Given the description of an element on the screen output the (x, y) to click on. 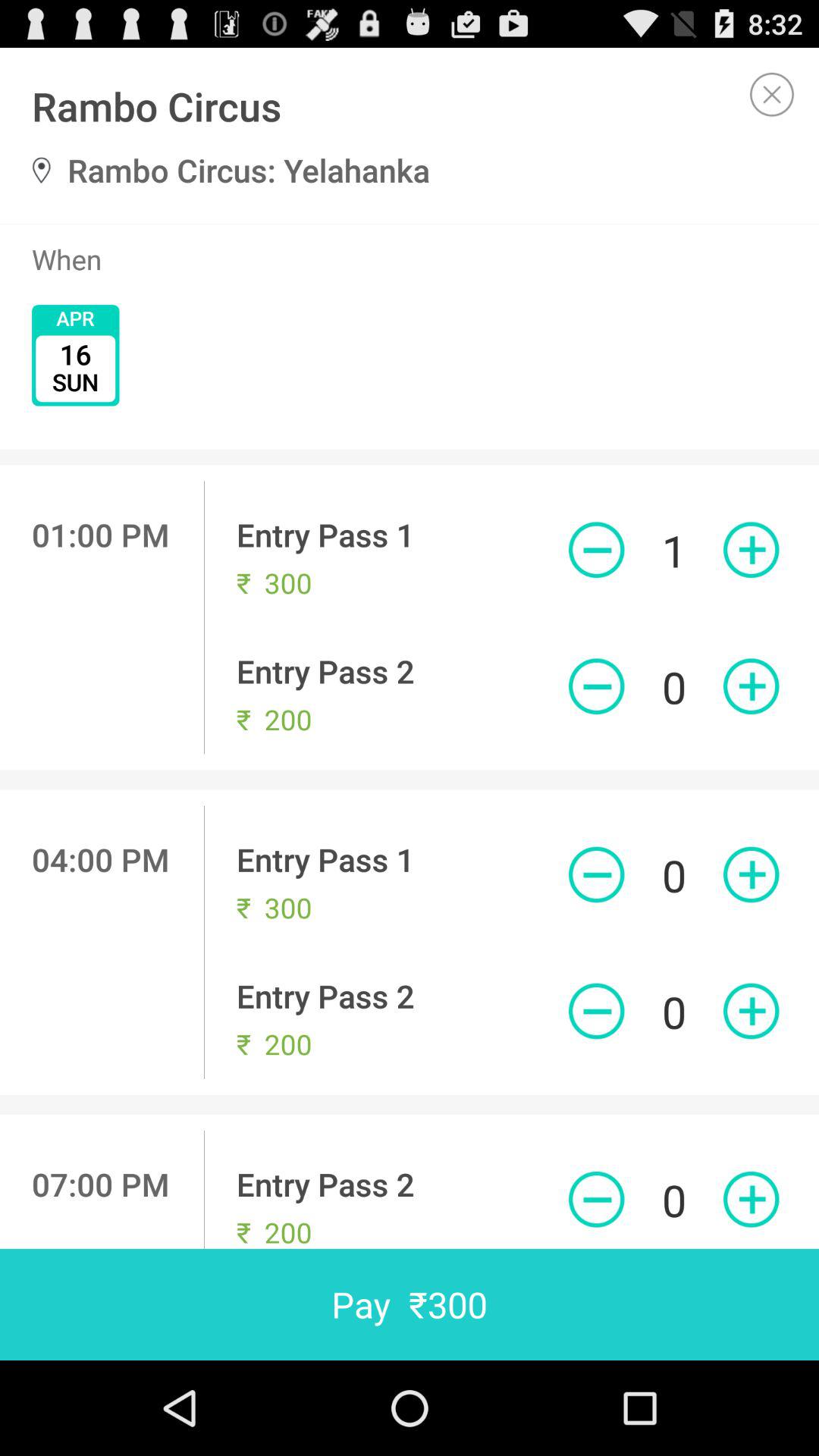
reduce the number of entry passes (596, 1199)
